Given the description of an element on the screen output the (x, y) to click on. 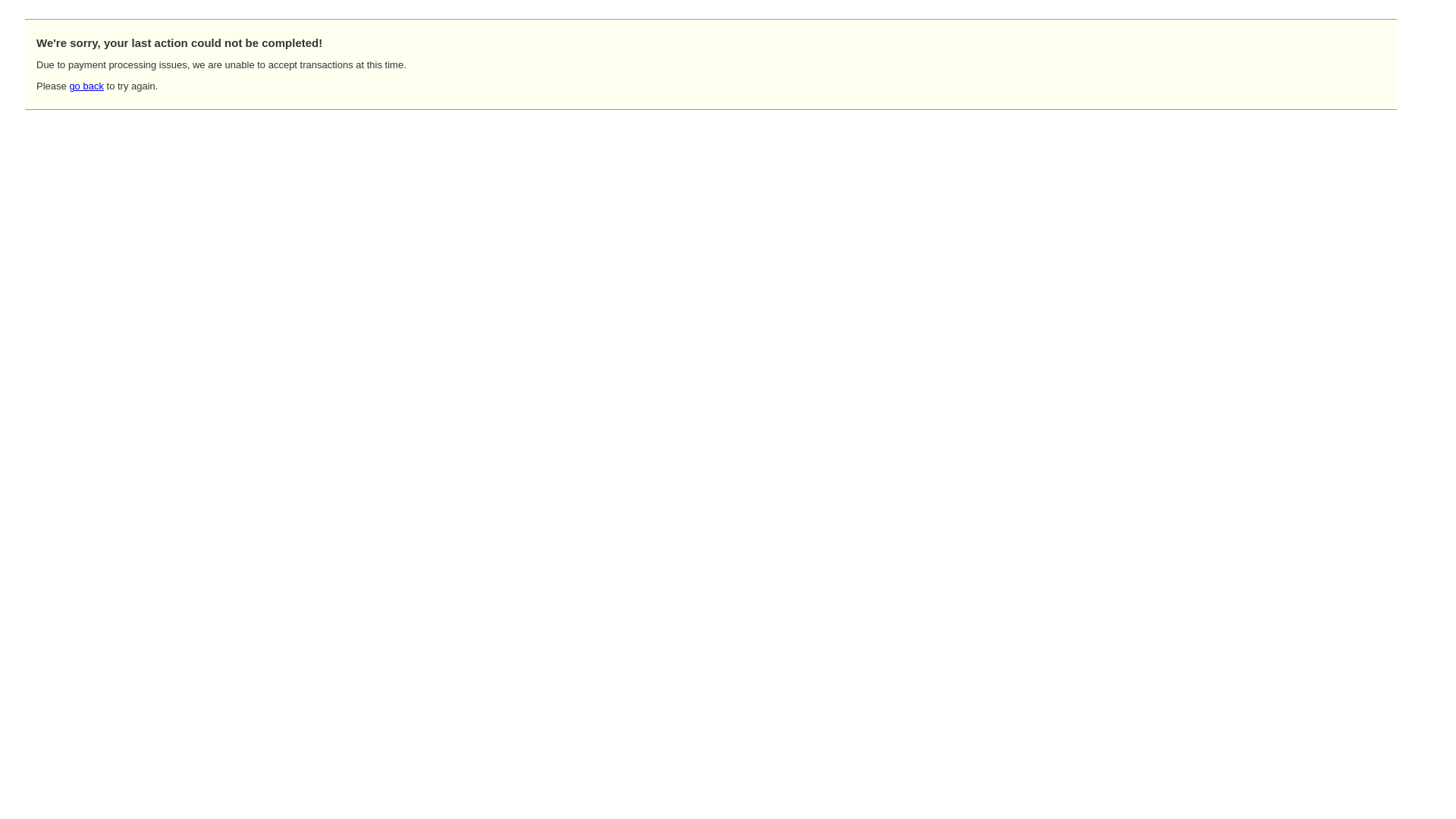
go back Element type: text (86, 85)
